Given the description of an element on the screen output the (x, y) to click on. 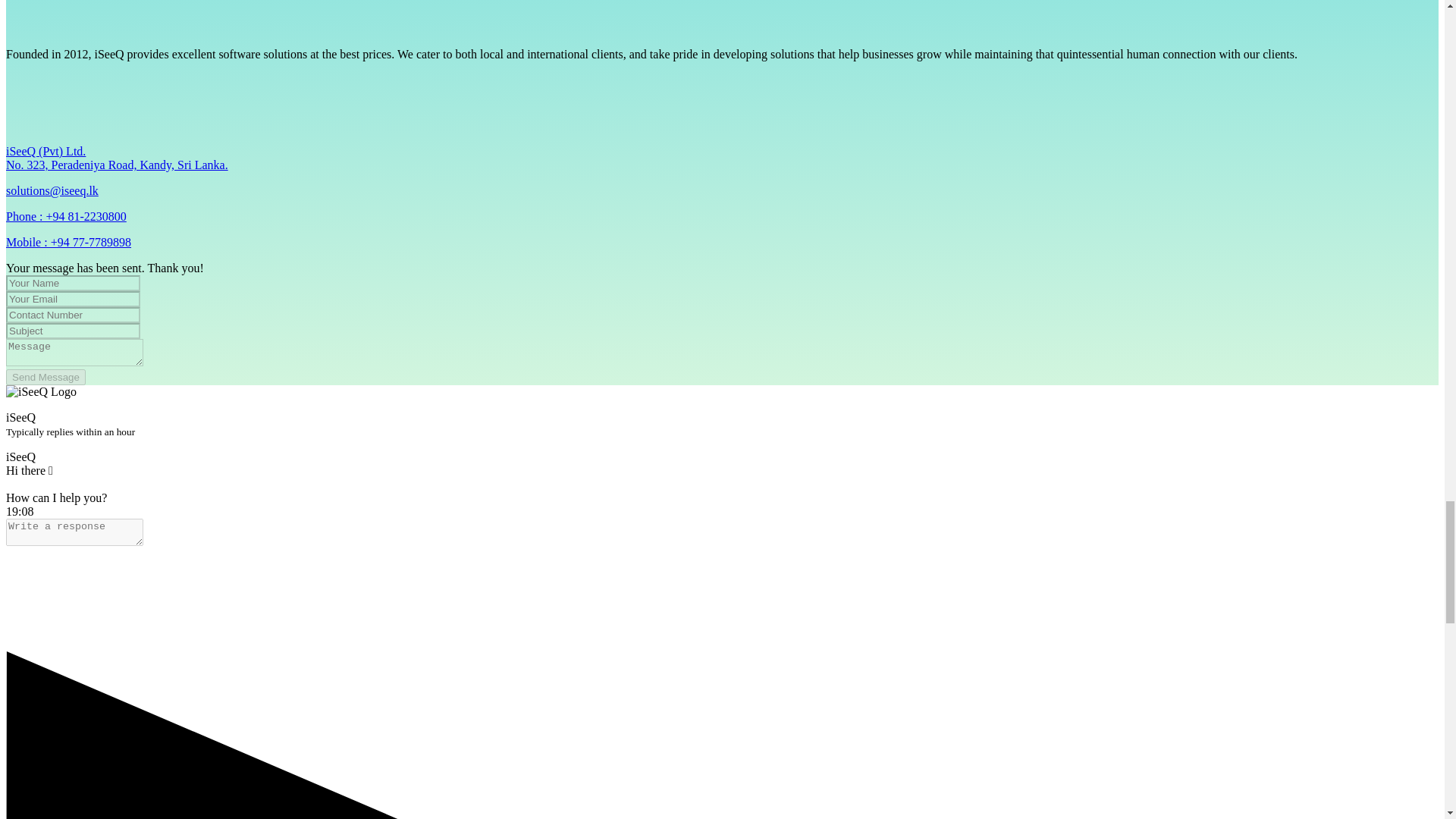
Send Message (45, 376)
Send Message (45, 376)
